Given the description of an element on the screen output the (x, y) to click on. 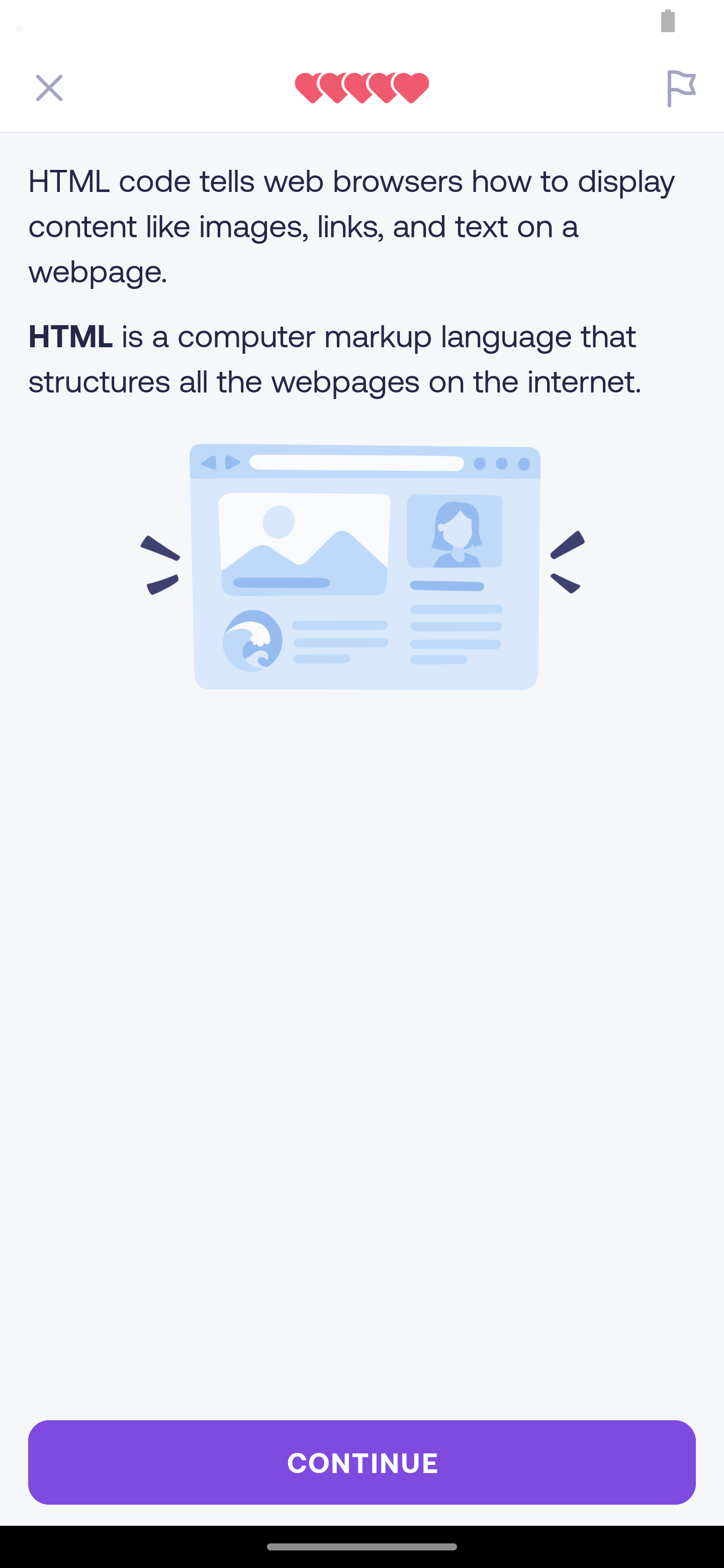
CONTINUE (361, 1462)
